Given the description of an element on the screen output the (x, y) to click on. 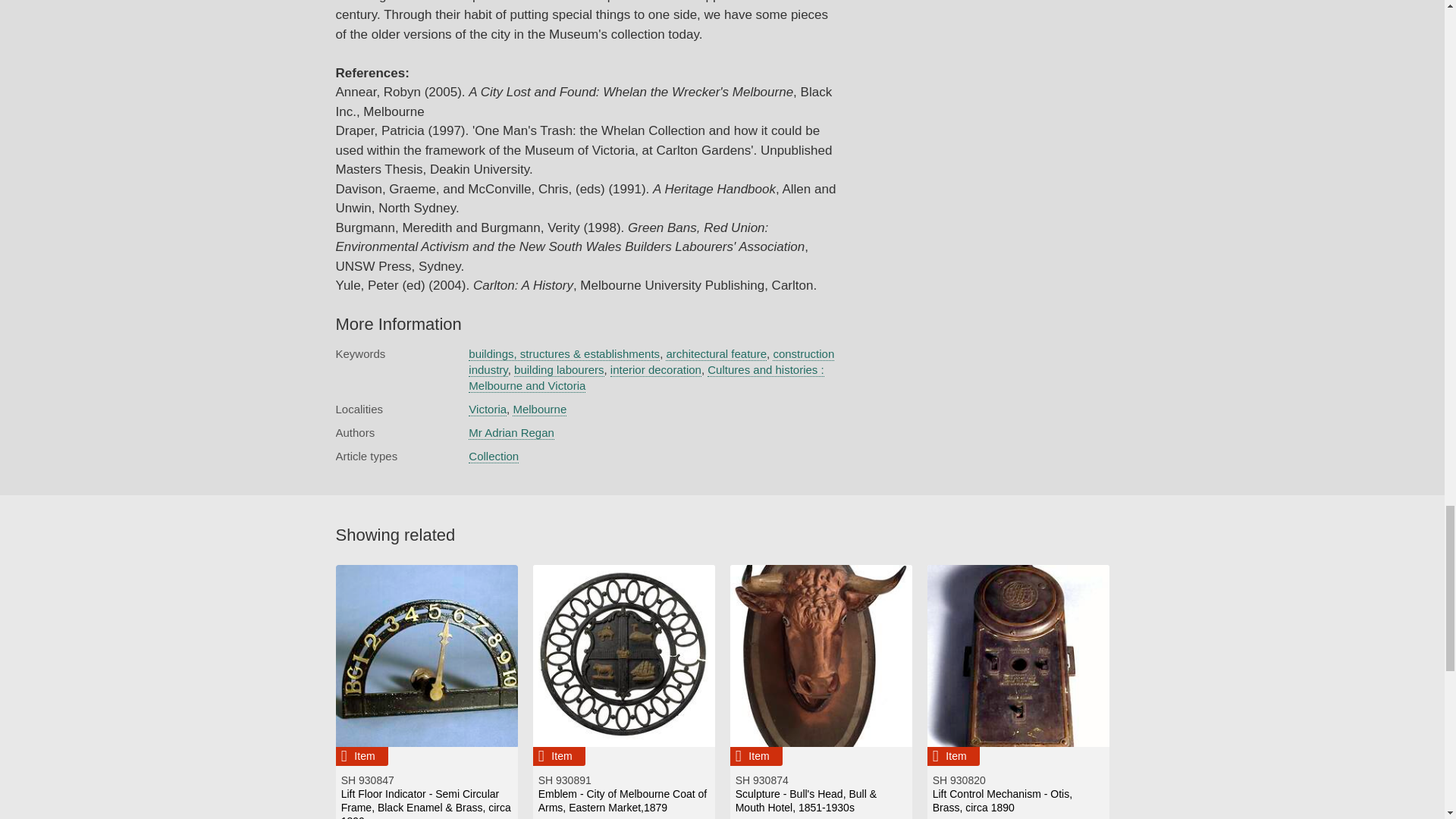
Melbourne (539, 409)
Cultures and histories : Melbourne and Victoria (646, 378)
interior decoration (655, 369)
Mr Adrian Regan (511, 432)
Collection (493, 456)
construction industry (651, 361)
building labourers (558, 369)
architectural feature (716, 354)
Victoria (487, 409)
